Given the description of an element on the screen output the (x, y) to click on. 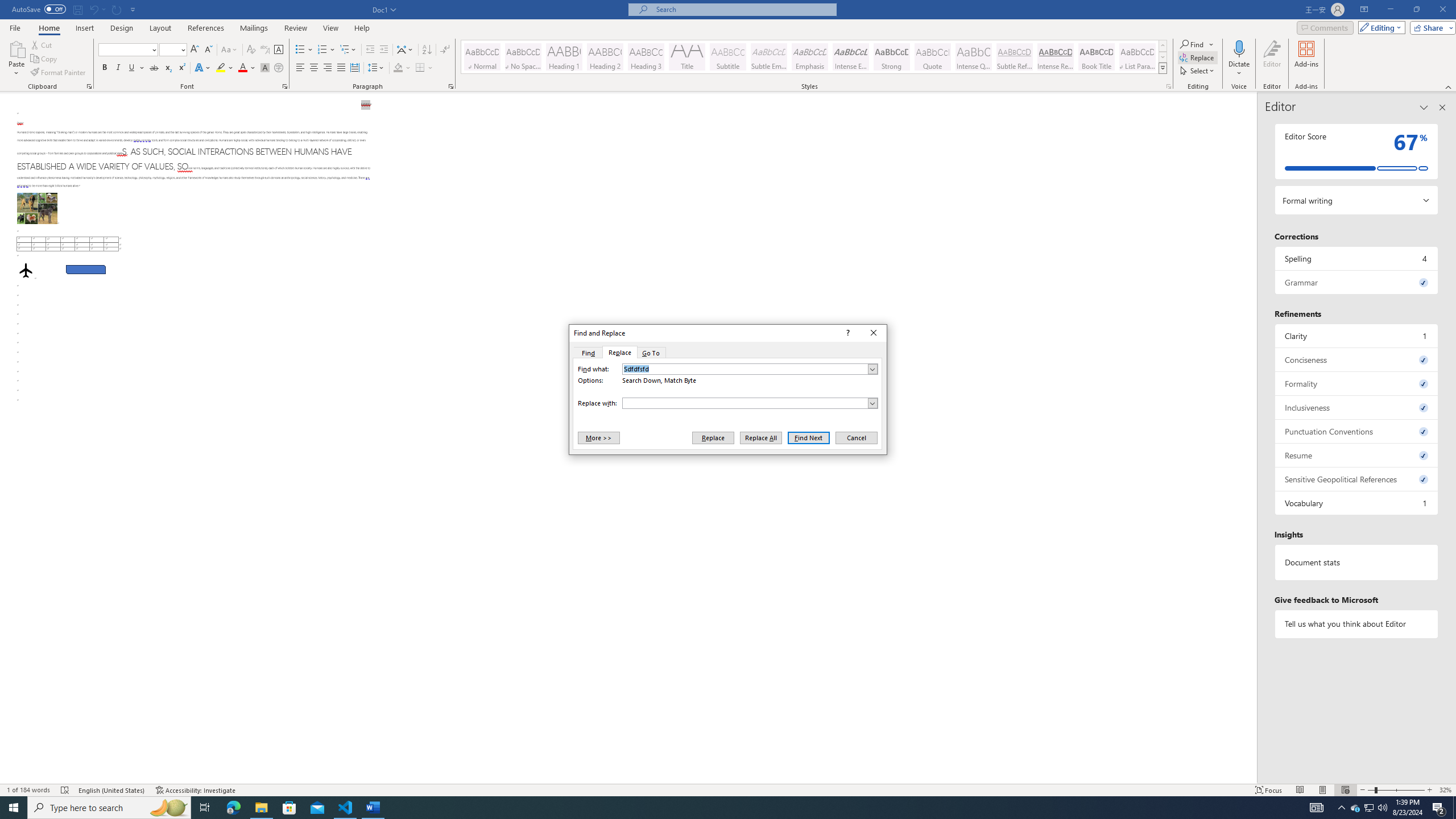
Go To (651, 352)
Word - 1 running window (373, 807)
Vocabulary, 1 issue. Press space or enter to review items. (1356, 502)
